Given the description of an element on the screen output the (x, y) to click on. 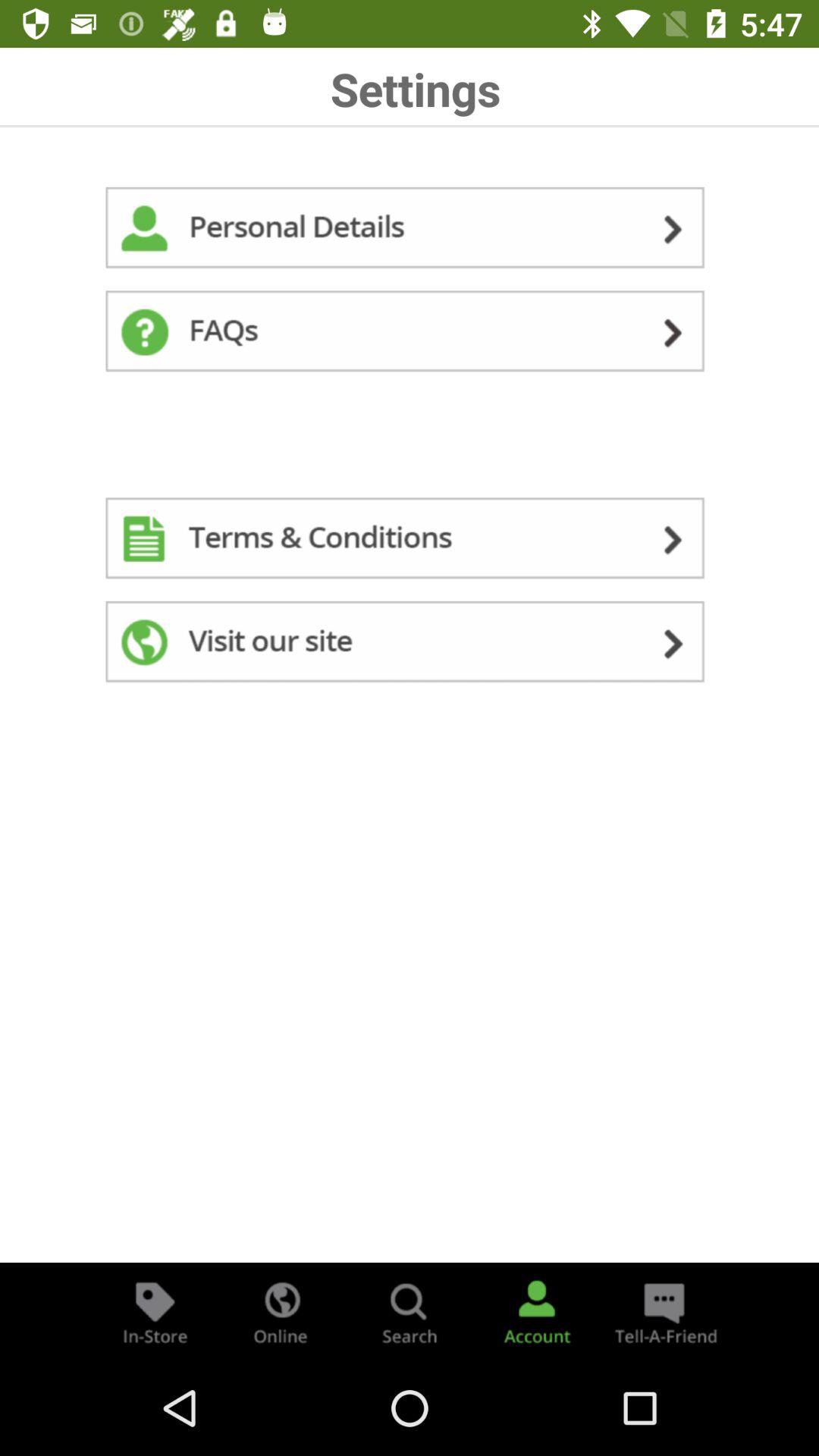
see terms conditions (409, 541)
